Given the description of an element on the screen output the (x, y) to click on. 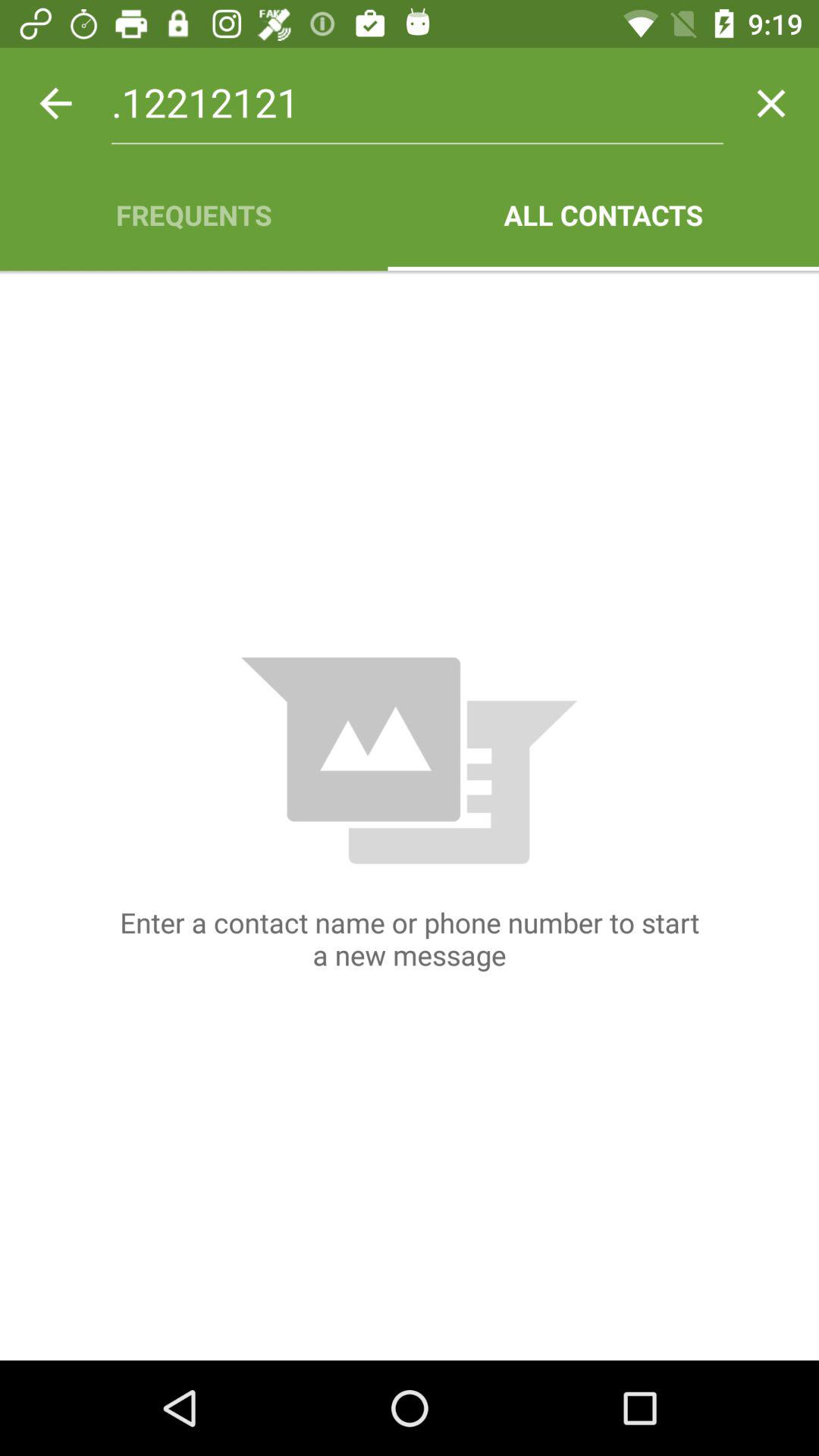
tap item next to the .12212121 item (771, 103)
